Given the description of an element on the screen output the (x, y) to click on. 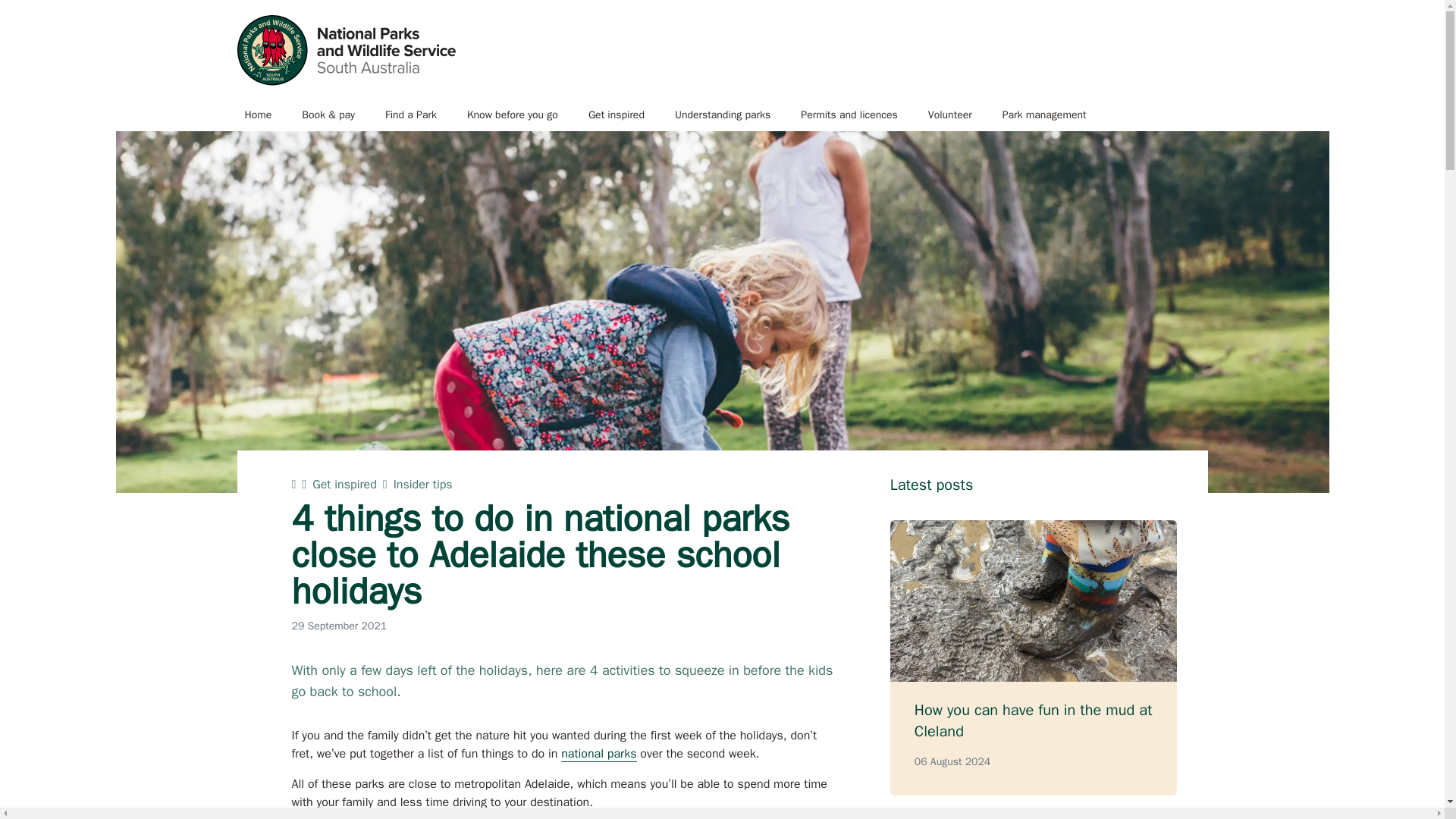
Parks (344, 50)
Find a Park (410, 115)
Understanding parks (722, 115)
Know before you go (512, 115)
Home (257, 115)
Get inspired (616, 115)
